Given the description of an element on the screen output the (x, y) to click on. 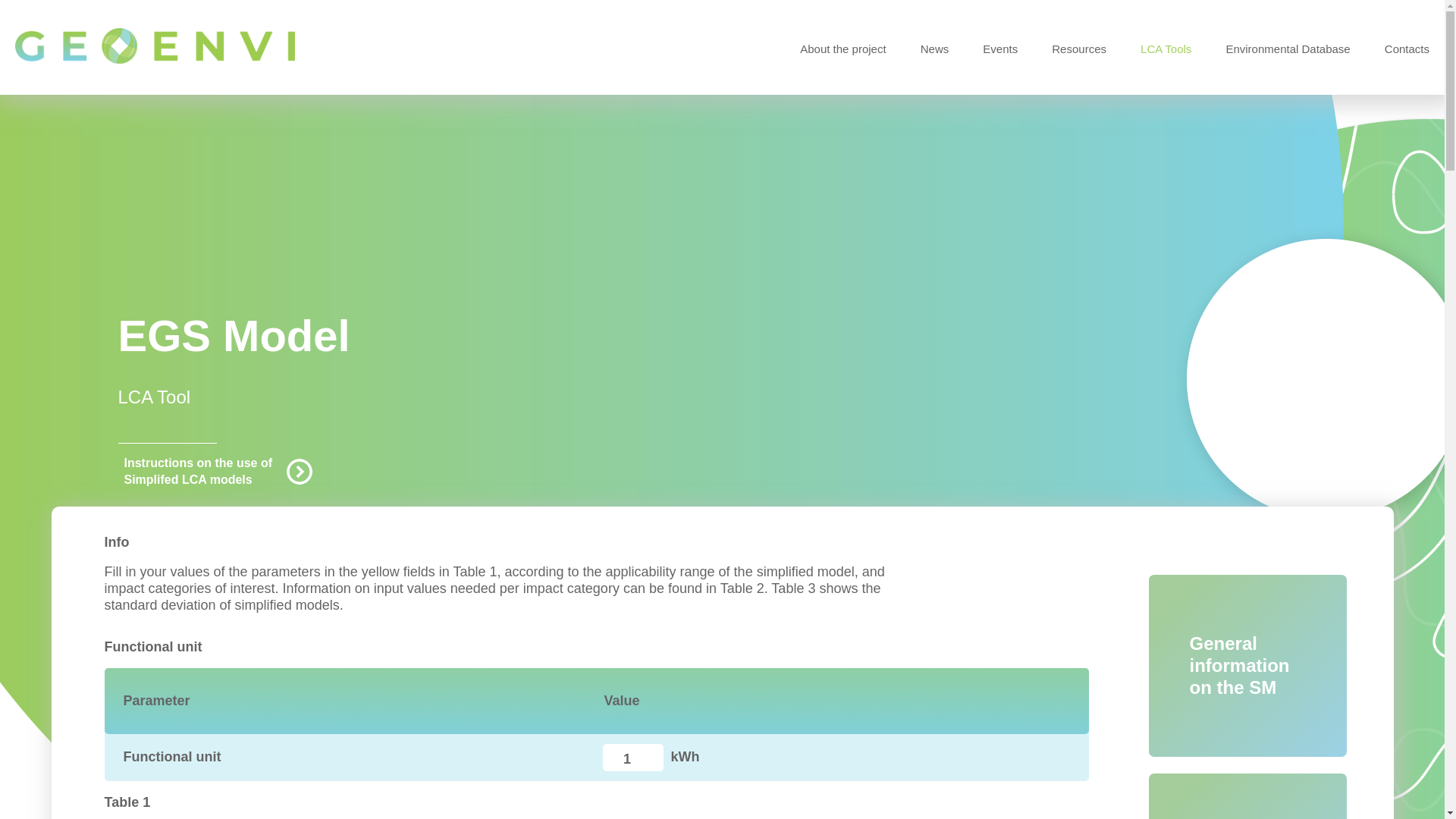
Environmental Database (1287, 49)
Resources (1078, 49)
News (934, 49)
LCA Tools (1165, 49)
Contacts (1406, 49)
About the project (842, 49)
Events (999, 49)
1 (632, 757)
